Given the description of an element on the screen output the (x, y) to click on. 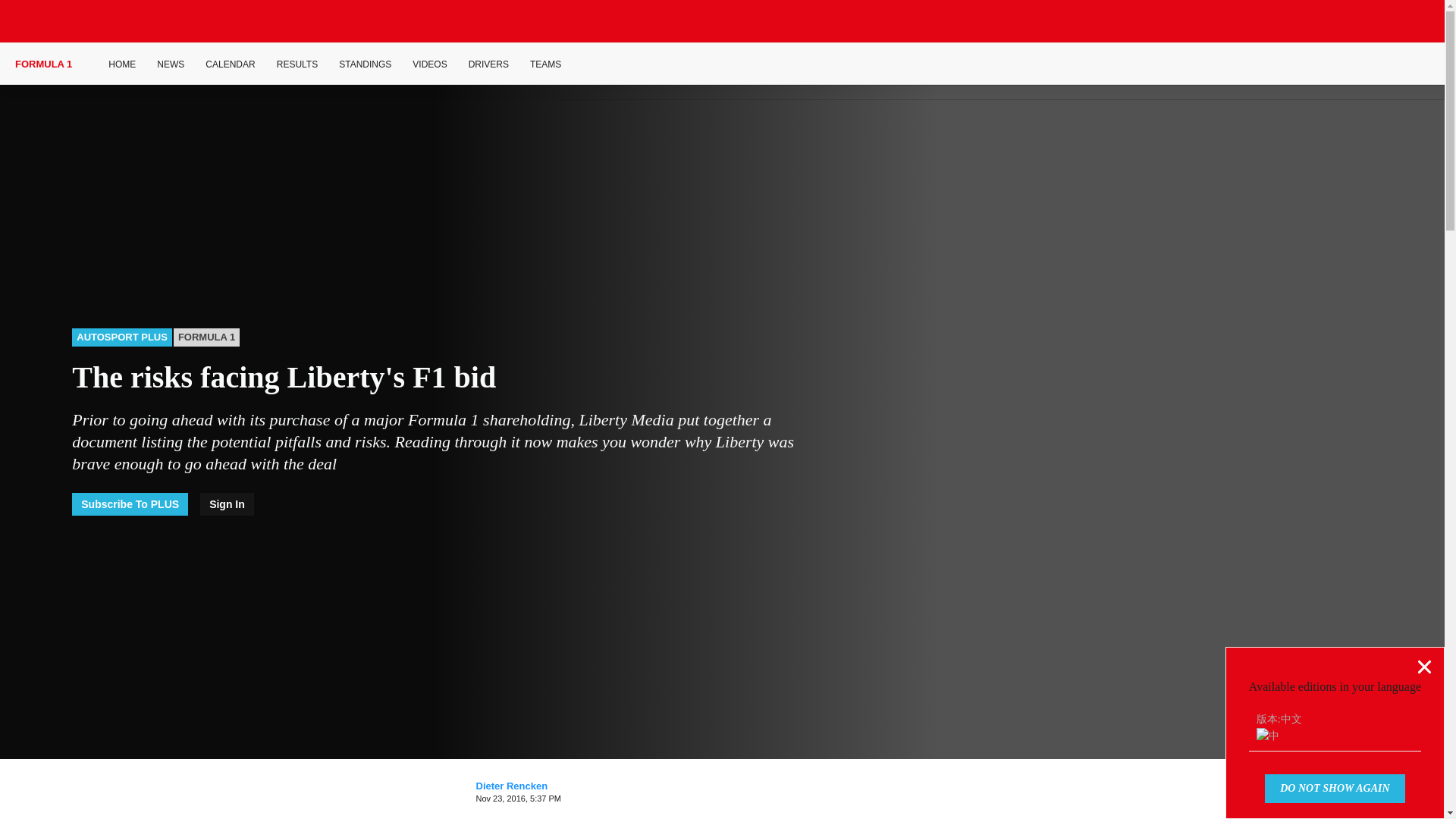
STANDINGS (365, 64)
RESULTS (296, 64)
CALENDAR (229, 64)
DRIVERS (488, 64)
